Given the description of an element on the screen output the (x, y) to click on. 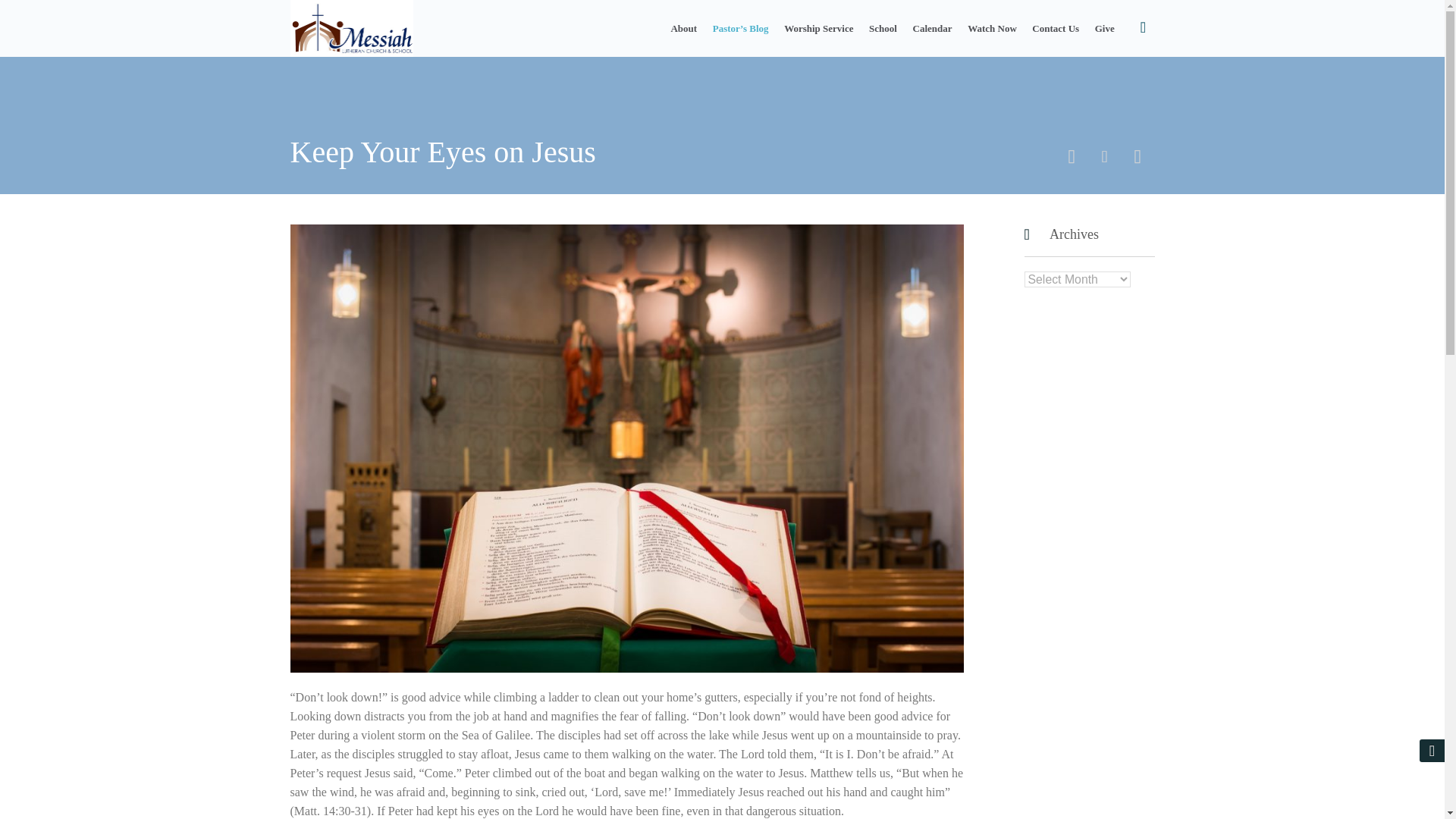
Worship Service (818, 29)
About (684, 29)
